Given the description of an element on the screen output the (x, y) to click on. 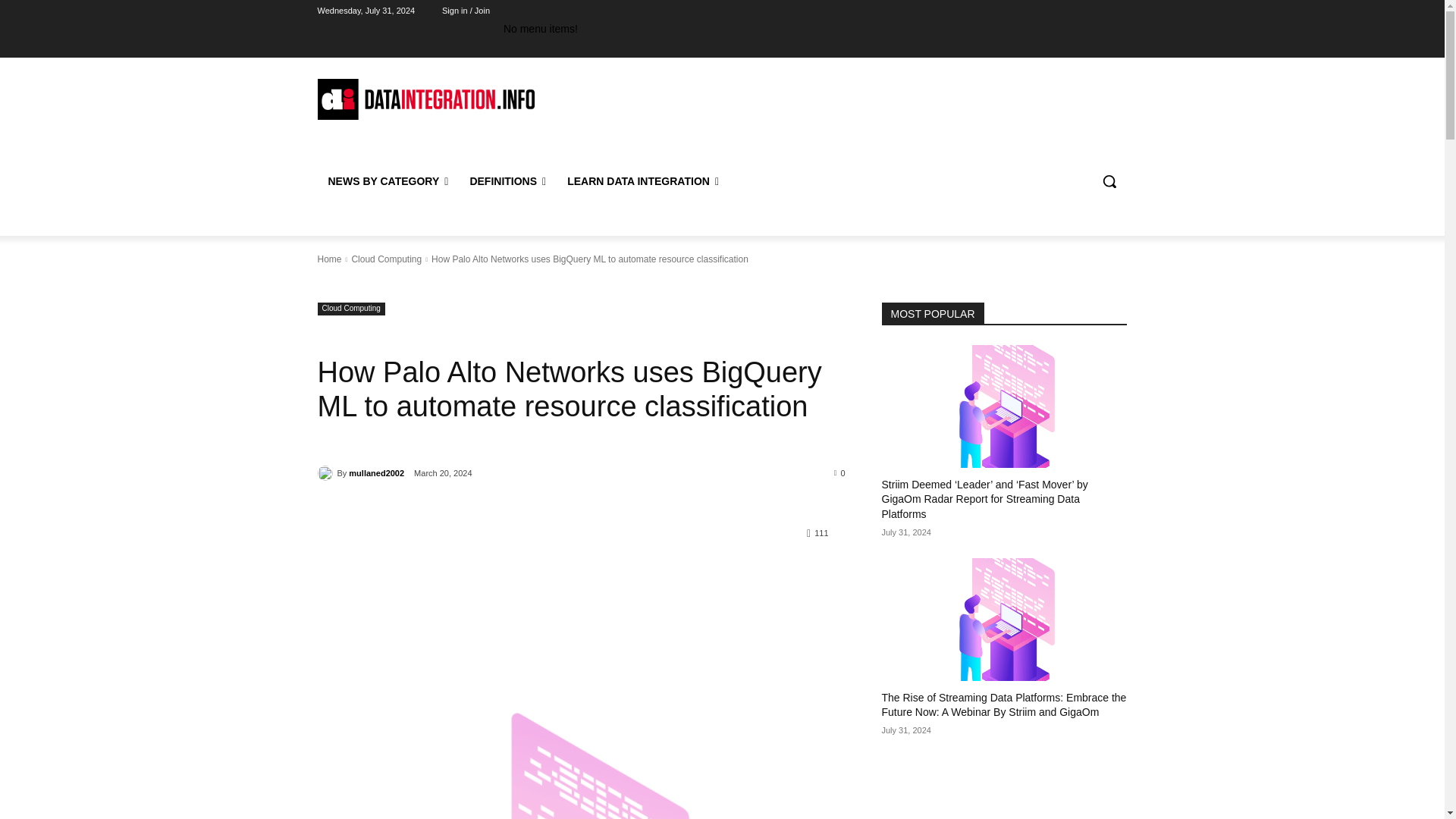
mullaned2002 (326, 473)
NEWS BY CATEGORY (387, 180)
View all posts in Cloud Computing (386, 258)
